Given the description of an element on the screen output the (x, y) to click on. 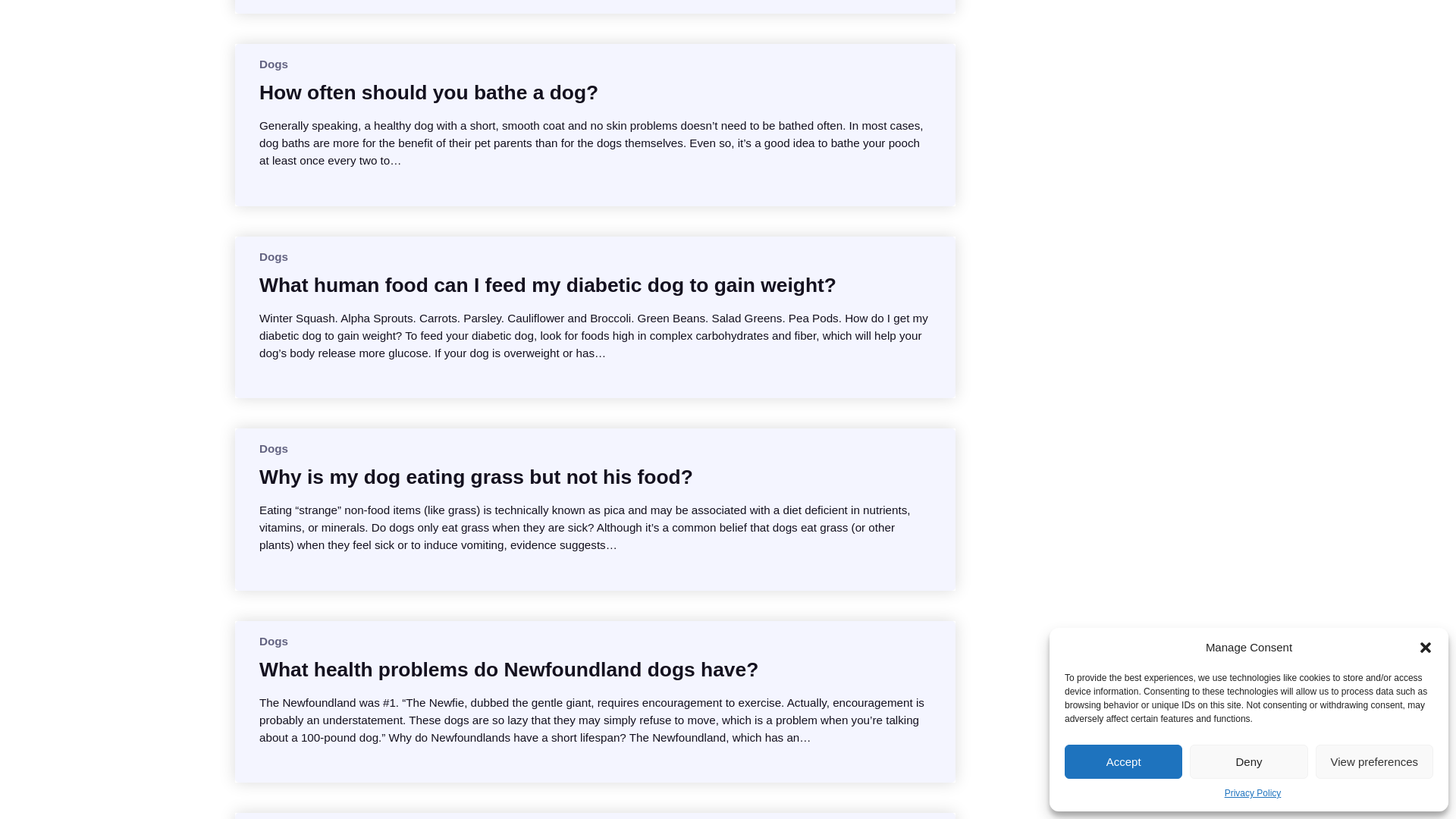
Dogs (273, 256)
What health problems do Newfoundland dogs have? (508, 669)
Dogs (273, 63)
How often should you bathe a dog? (428, 92)
What human food can I feed my diabetic dog to gain weight? (547, 284)
Why is my dog eating grass but not his food? (476, 476)
Dogs (273, 640)
Dogs (273, 448)
